Given the description of an element on the screen output the (x, y) to click on. 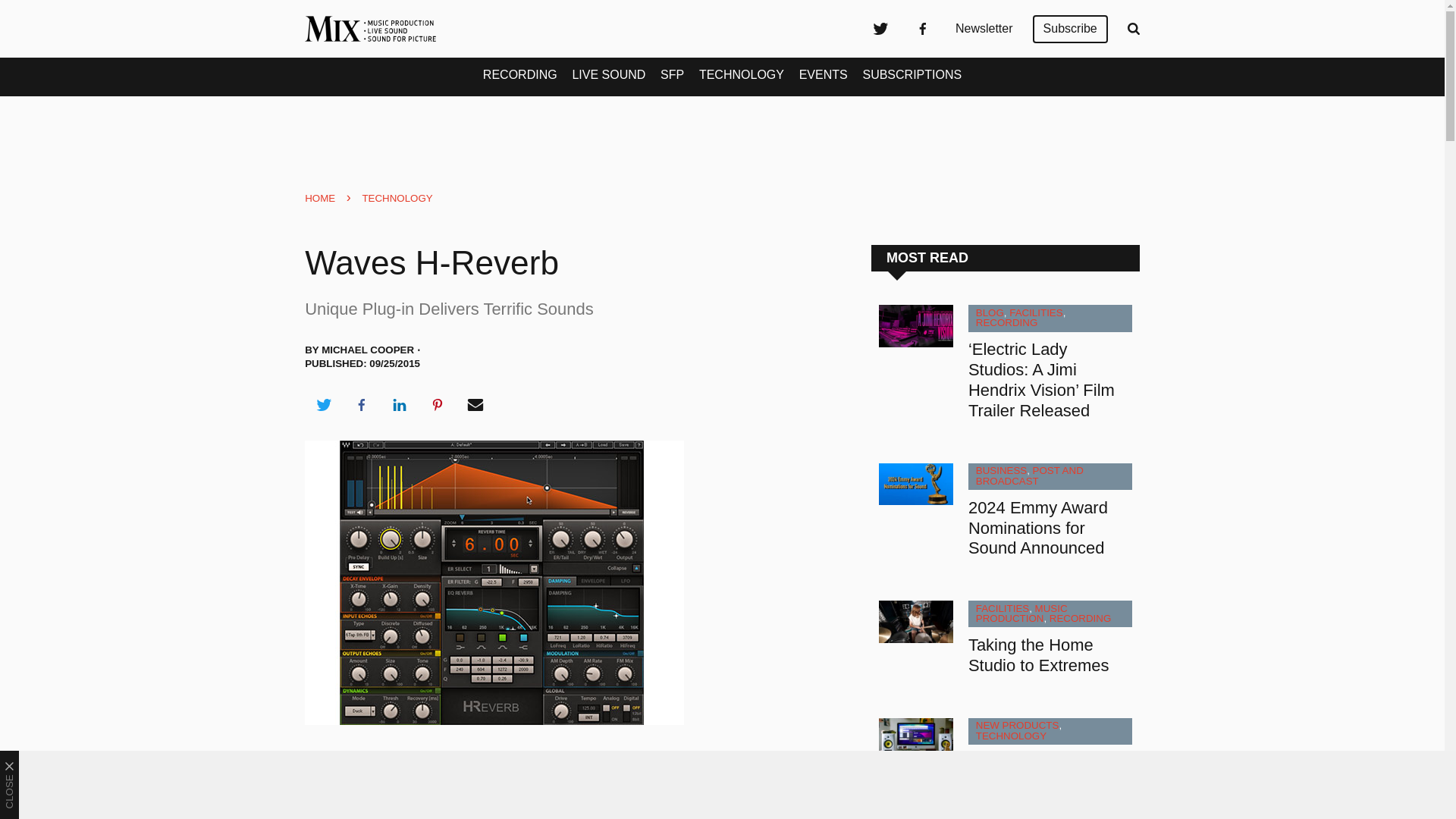
Share via Email (476, 404)
Share on LinkedIn (399, 404)
Share on Pinterest (438, 404)
Share on Twitter (323, 404)
Share on Facebook (361, 404)
